Given the description of an element on the screen output the (x, y) to click on. 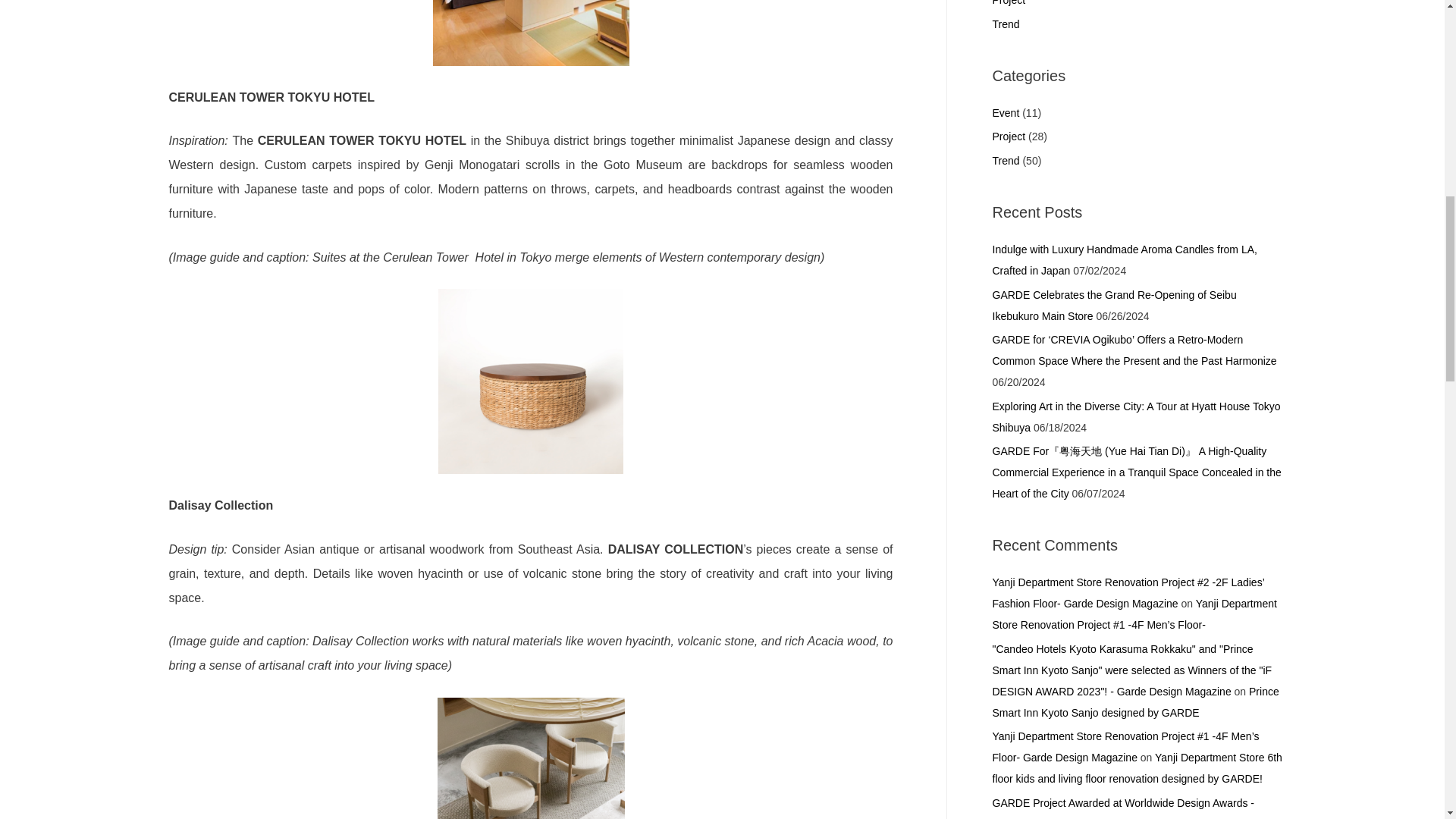
Project (1008, 136)
Event (1005, 112)
Trend (1005, 24)
Project (1008, 2)
